Given the description of an element on the screen output the (x, y) to click on. 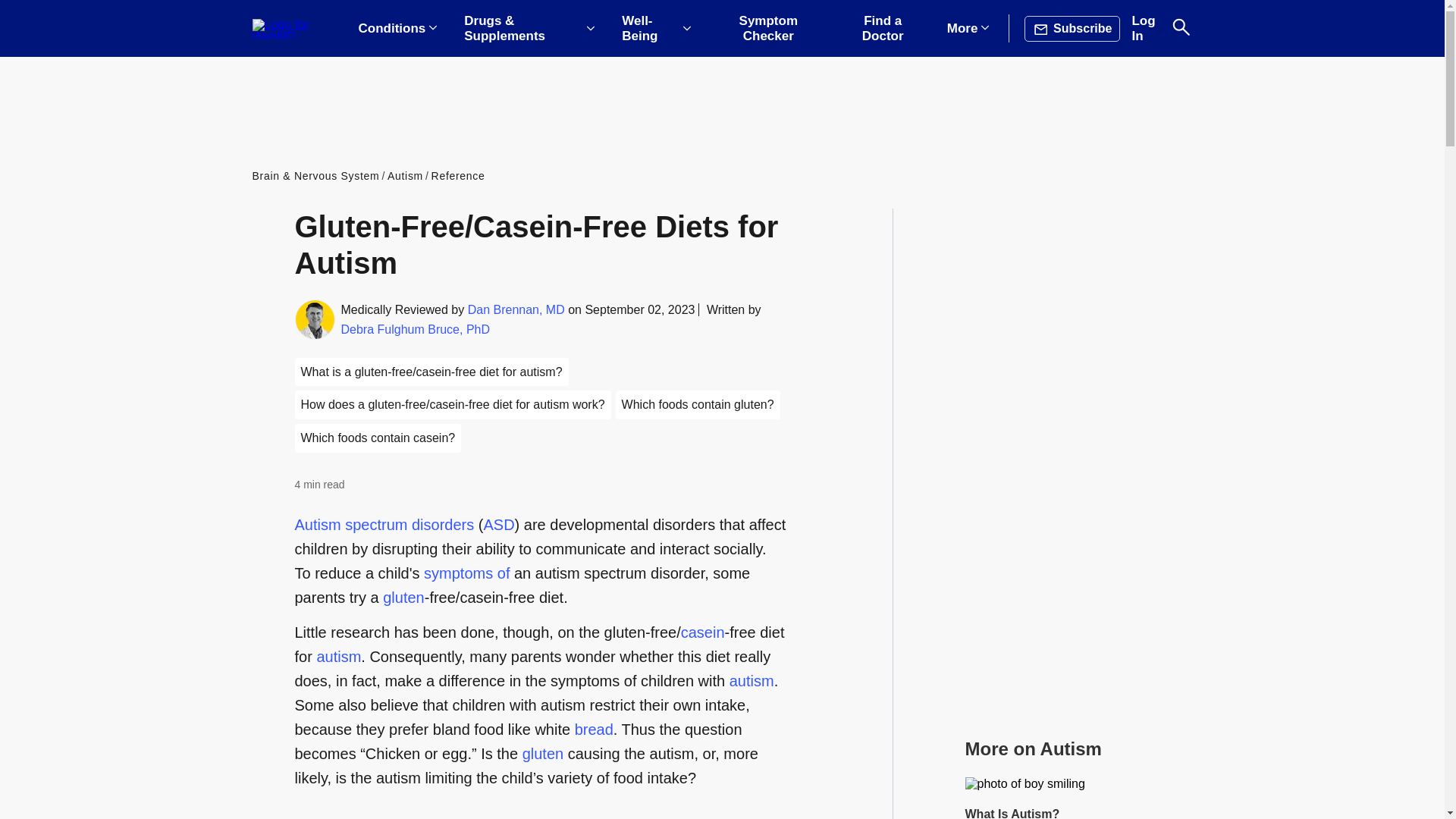
Conditions (397, 28)
